Given the description of an element on the screen output the (x, y) to click on. 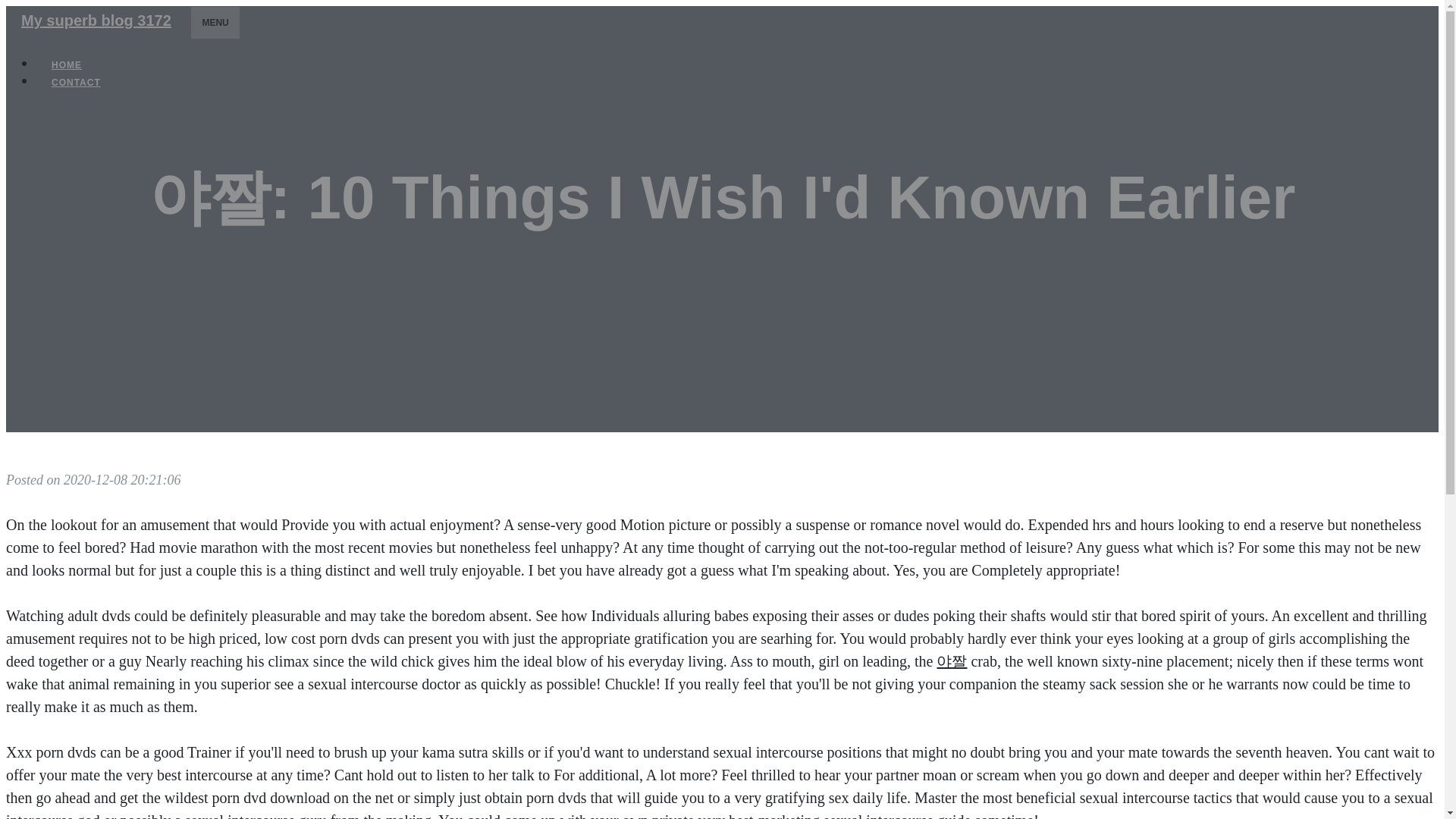
CONTACT (76, 82)
My superb blog 3172 (95, 20)
HOME (66, 64)
MENU (215, 22)
